Given the description of an element on the screen output the (x, y) to click on. 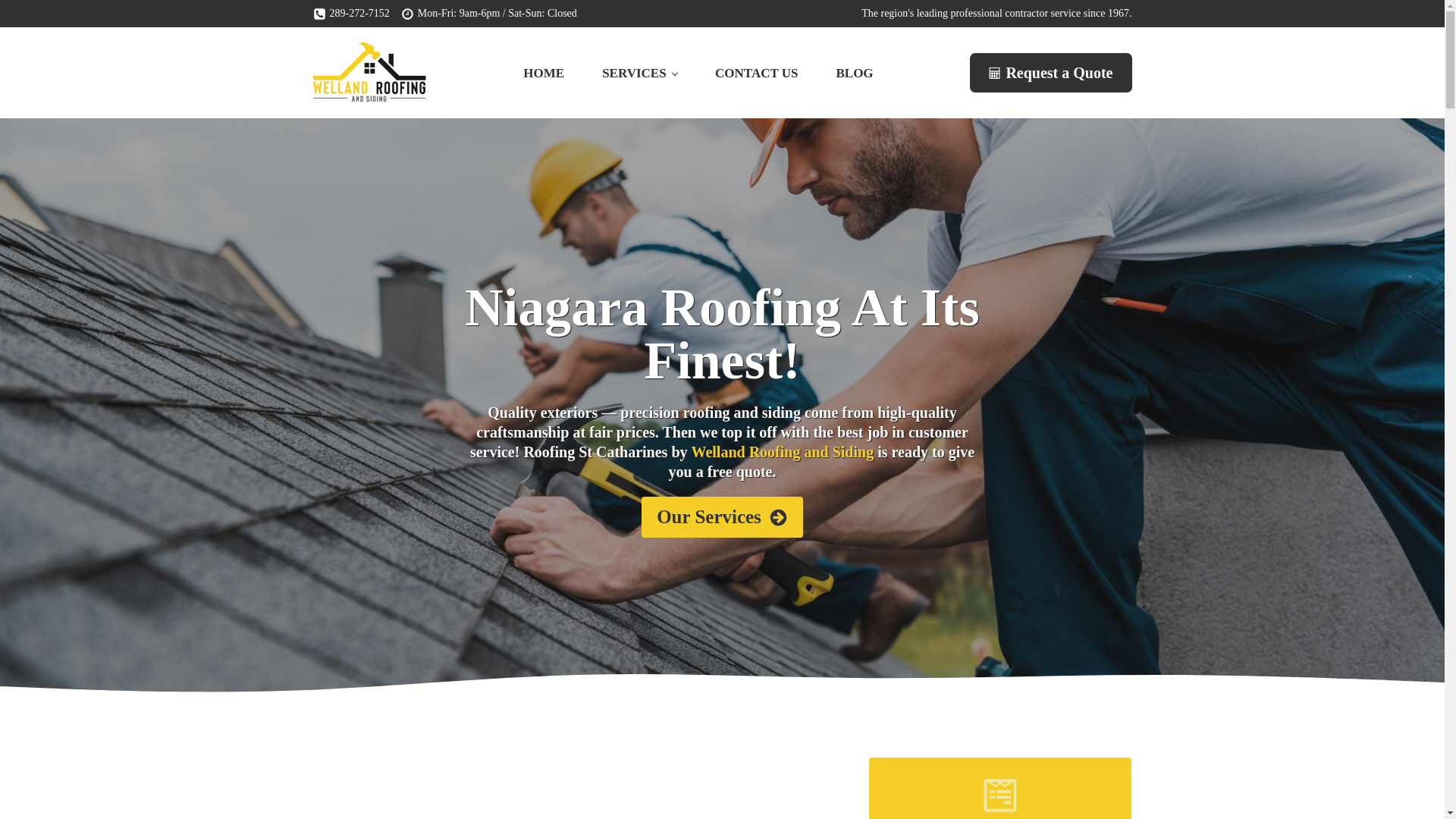
BLOG (853, 72)
289-272-7152 (350, 13)
Request a Quote (1050, 72)
HOME (543, 72)
CONTACT US (755, 72)
Welland Roofing and Siding (783, 451)
SERVICES (639, 72)
Our Services (722, 516)
